Given the description of an element on the screen output the (x, y) to click on. 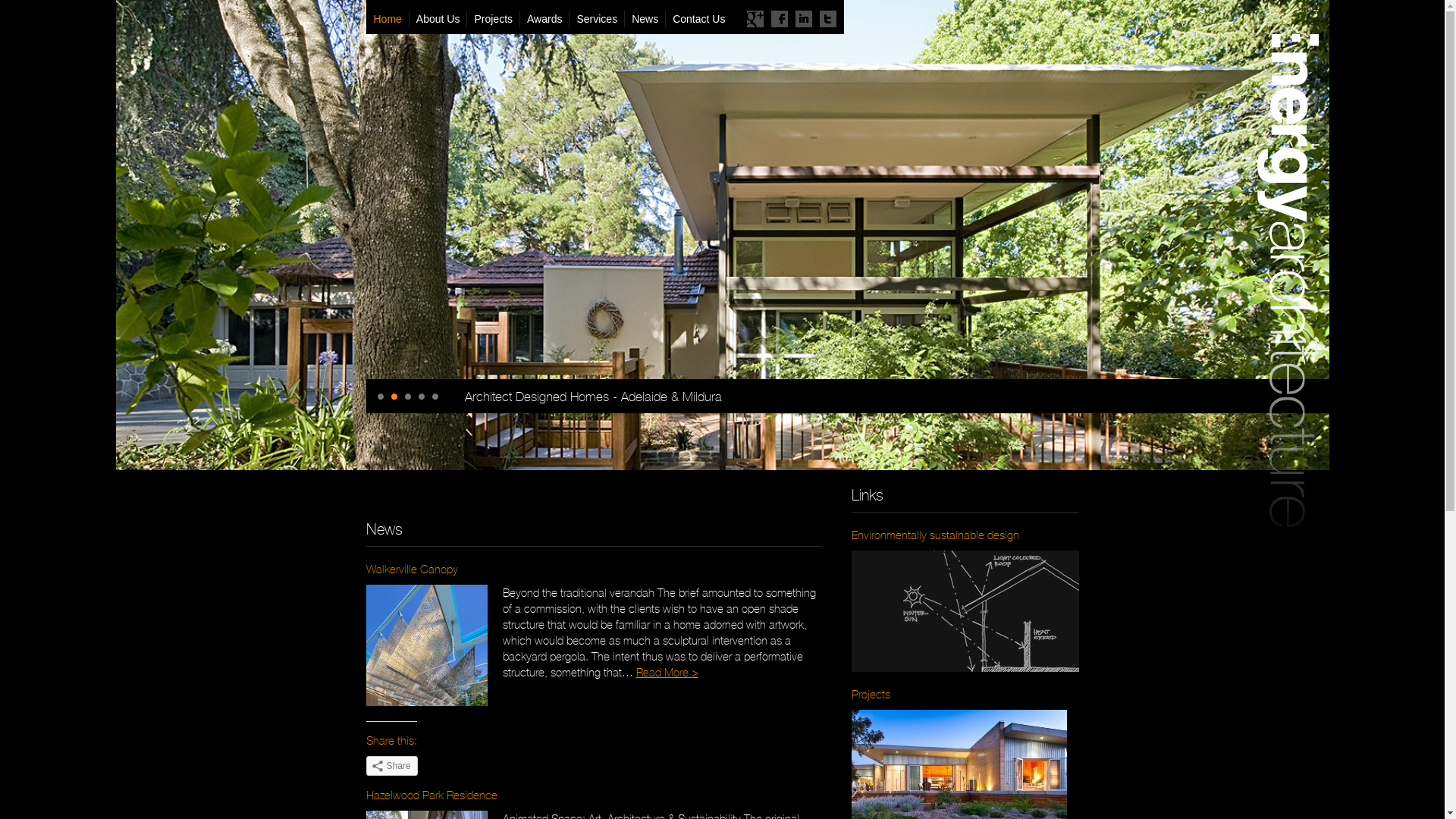
Hazelwood Park Residence Element type: text (430, 794)
News Element type: text (644, 18)
Services Element type: text (596, 18)
Awards Element type: text (543, 18)
Projects Element type: text (869, 693)
Environmentally sustainable design Element type: text (934, 534)
Share Element type: text (391, 765)
Projects Element type: text (492, 18)
Home Element type: text (390, 18)
About Us Element type: text (437, 18)
Contact Us Element type: text (698, 18)
Read More > Element type: text (666, 671)
Walkerville Canopy Element type: text (411, 568)
